Given the description of an element on the screen output the (x, y) to click on. 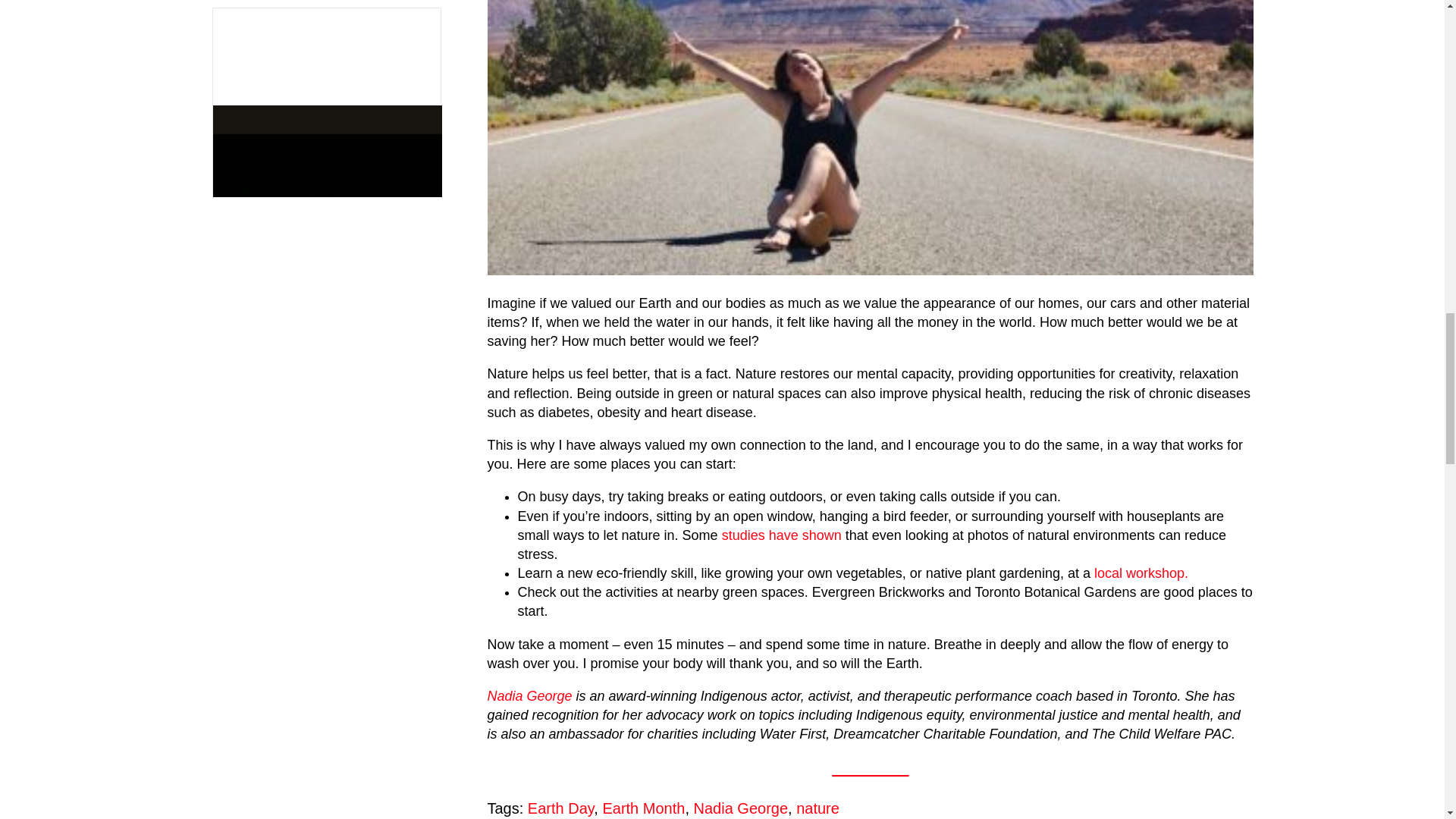
studies have shown (781, 534)
Earth Month (643, 808)
local workshop. (1141, 572)
Nadia George (529, 695)
Nadia George (741, 808)
nature (818, 808)
Earth Day (560, 808)
